Given the description of an element on the screen output the (x, y) to click on. 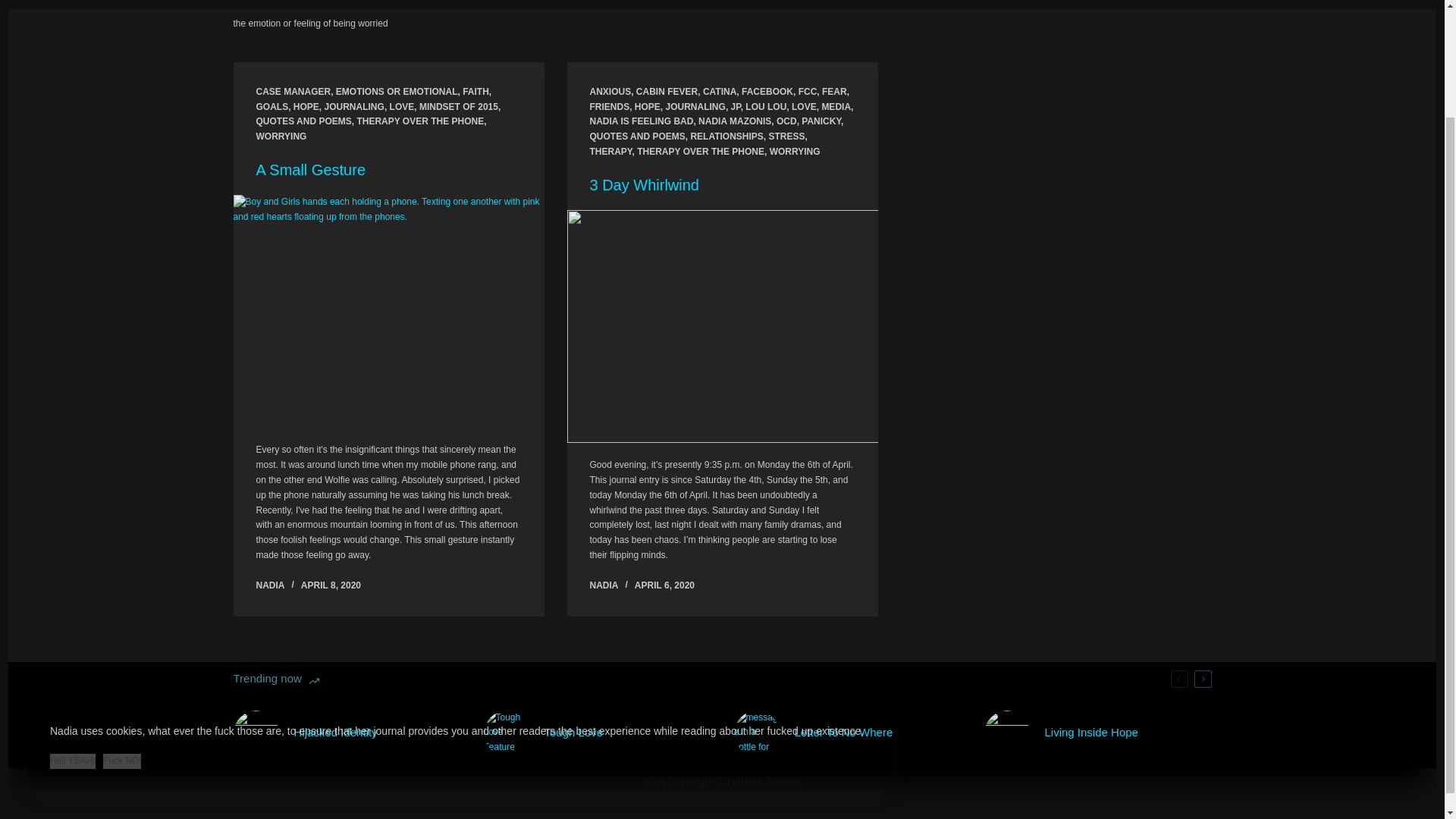
MINDSET OF 2015 (458, 106)
Posts by Nadia (603, 584)
FAITH (476, 91)
THERAPY OVER THE PHONE (419, 121)
GOALS (272, 106)
Fuck NO! (122, 631)
FEAR (834, 91)
FCC (806, 91)
EMOTIONS OR EMOTIONAL (397, 91)
JP (735, 106)
A Small Gesture (311, 169)
ANXIOUS (610, 91)
CATINA (719, 91)
LOVE (402, 106)
Posts by Nadia (270, 584)
